Given the description of an element on the screen output the (x, y) to click on. 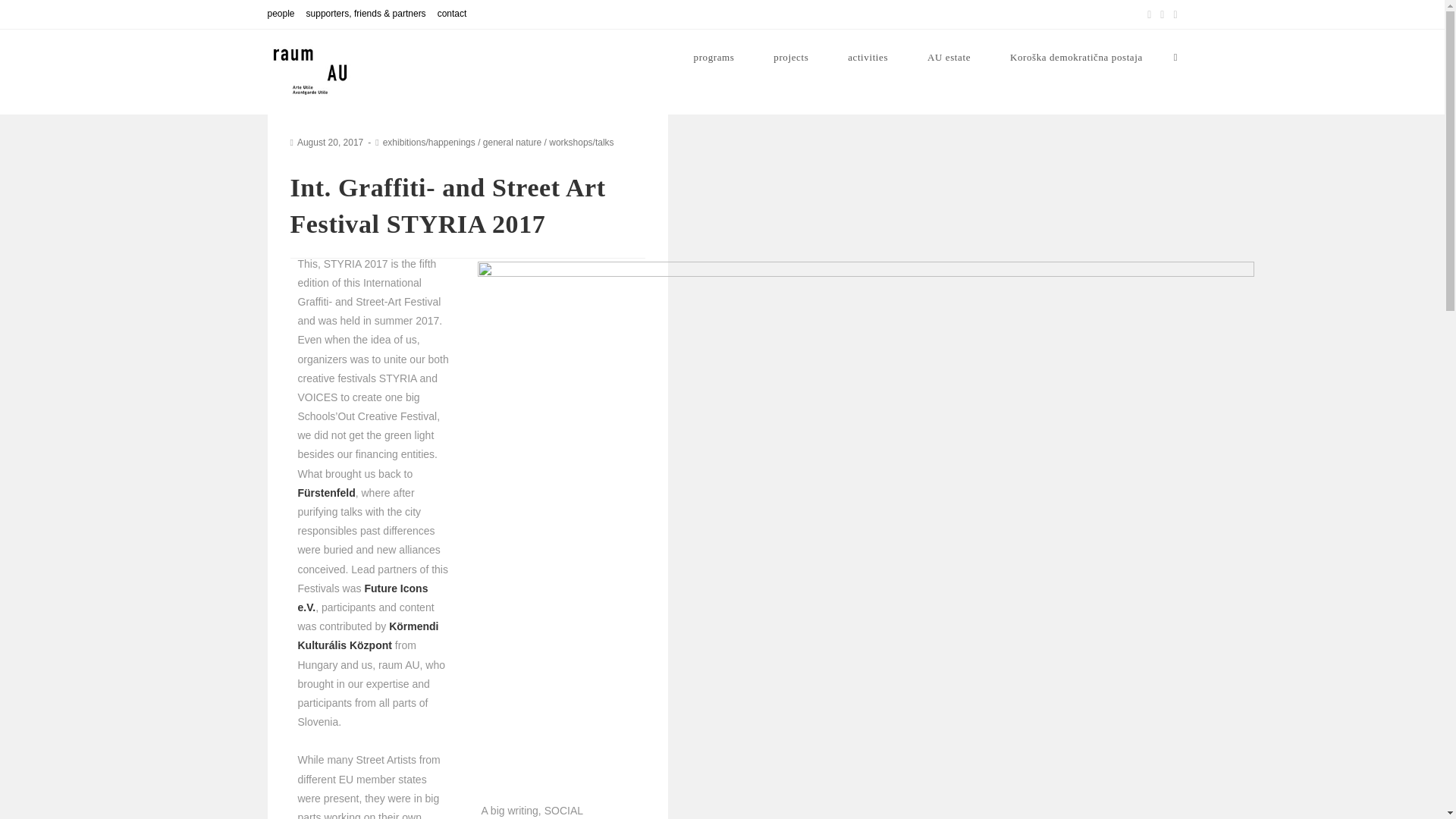
activities (867, 57)
Future Icons e.V. (362, 597)
programs (714, 57)
people (280, 13)
AU estate (948, 57)
contact (452, 13)
projects (791, 57)
general nature (512, 142)
